Given the description of an element on the screen output the (x, y) to click on. 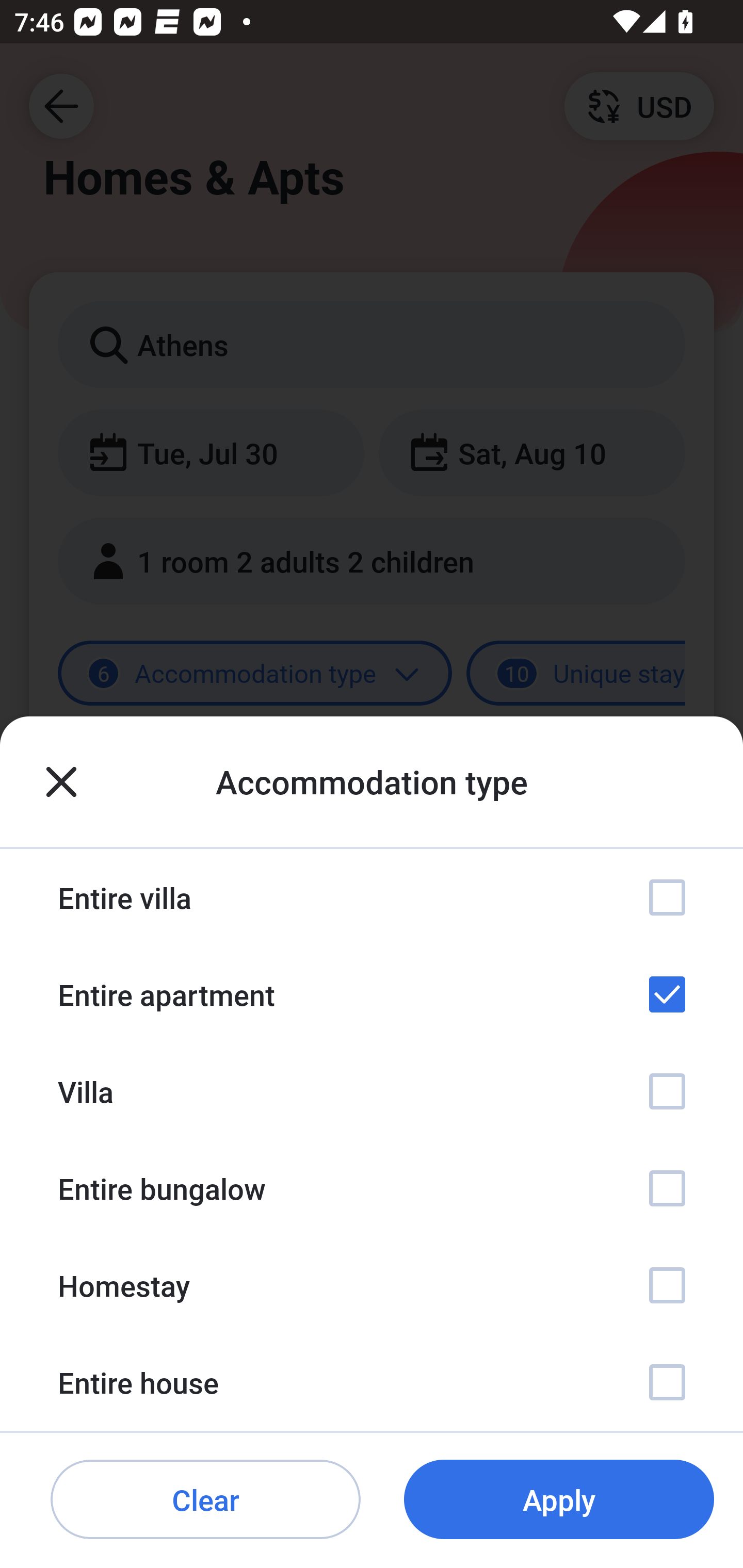
Entire villa (371, 897)
Entire apartment (371, 994)
Villa (371, 1091)
Entire bungalow (371, 1188)
Homestay (371, 1284)
Entire house (371, 1382)
Clear (205, 1499)
Apply (559, 1499)
